Given the description of an element on the screen output the (x, y) to click on. 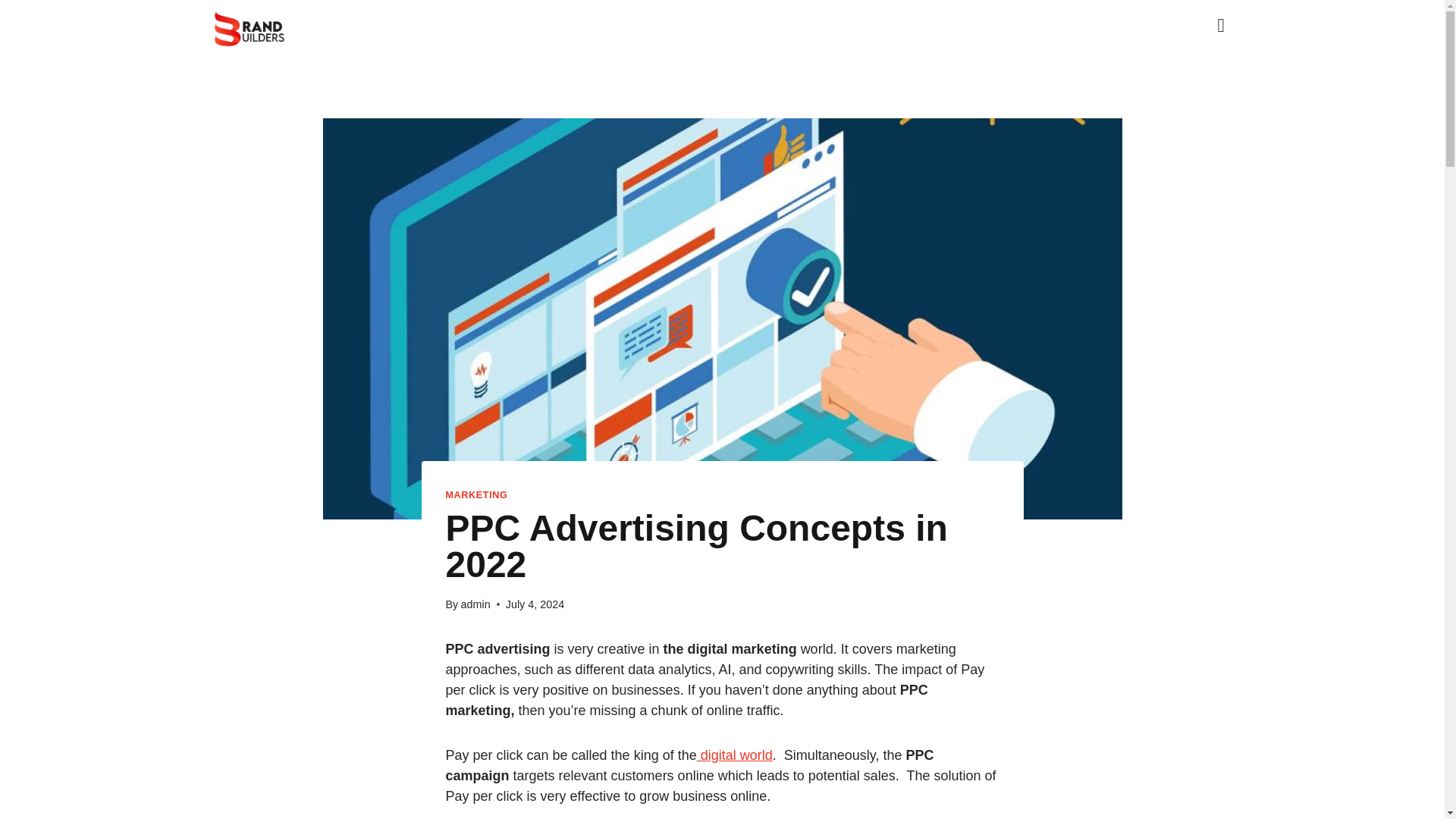
MARKETING (476, 494)
 digital world (735, 754)
admin (474, 604)
